Given the description of an element on the screen output the (x, y) to click on. 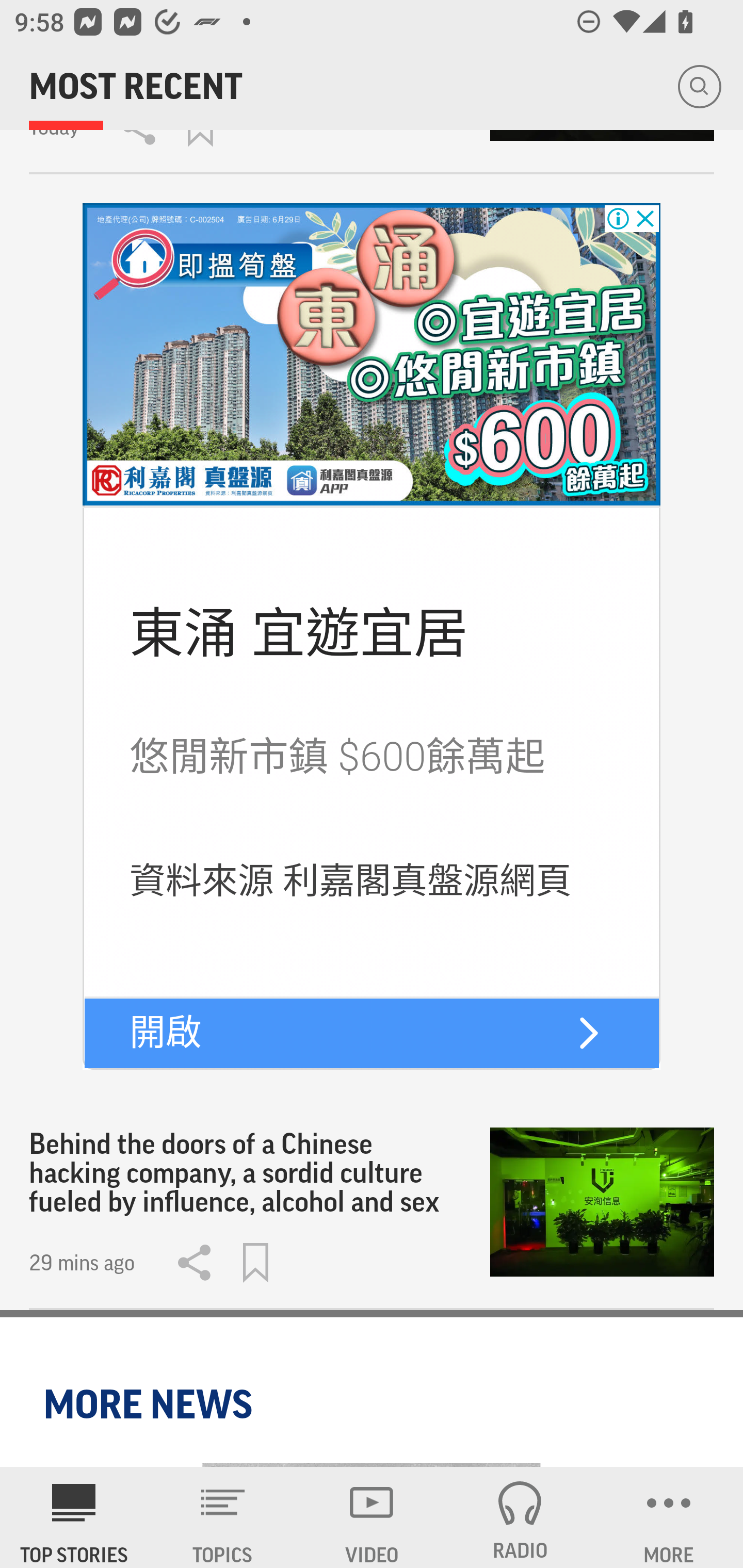
B30001434 (371, 354)
東涌 宜遊宜居 (298, 633)
資料來源 利嘉閣真盤源網頁 (351, 880)
B30001434 (588, 1032)
開啟 (165, 1032)
MORE NEWS (151, 1404)
AP News TOP STORIES (74, 1517)
TOPICS (222, 1517)
VIDEO (371, 1517)
RADIO (519, 1517)
MORE (668, 1517)
